Given the description of an element on the screen output the (x, y) to click on. 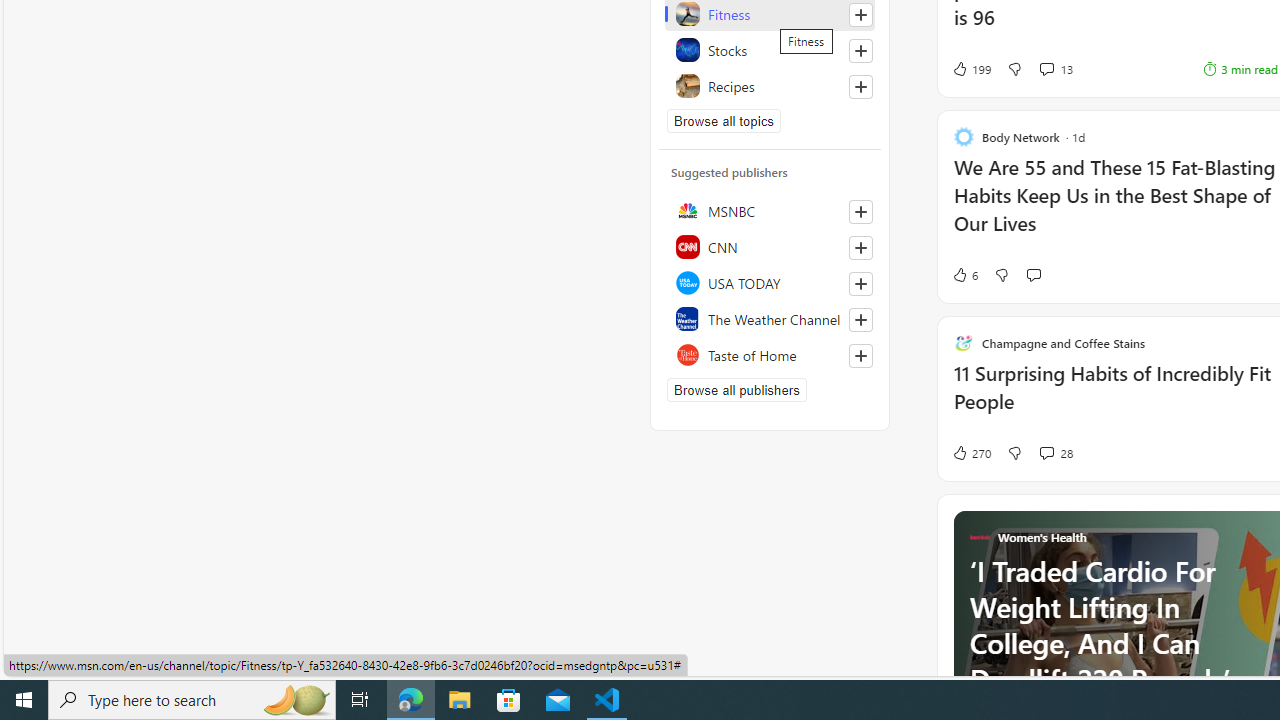
270 Like (970, 452)
Recipes (770, 85)
View comments 28 Comment (1046, 452)
Start the conversation (1033, 274)
6 Like (964, 274)
Stocks (770, 49)
Browse all topics (724, 120)
199 Like (970, 68)
Taste of Home (770, 354)
CNN (770, 246)
View comments 28 Comment (1055, 452)
Follow this source (860, 355)
View comments 13 Comment (1046, 69)
